Given the description of an element on the screen output the (x, y) to click on. 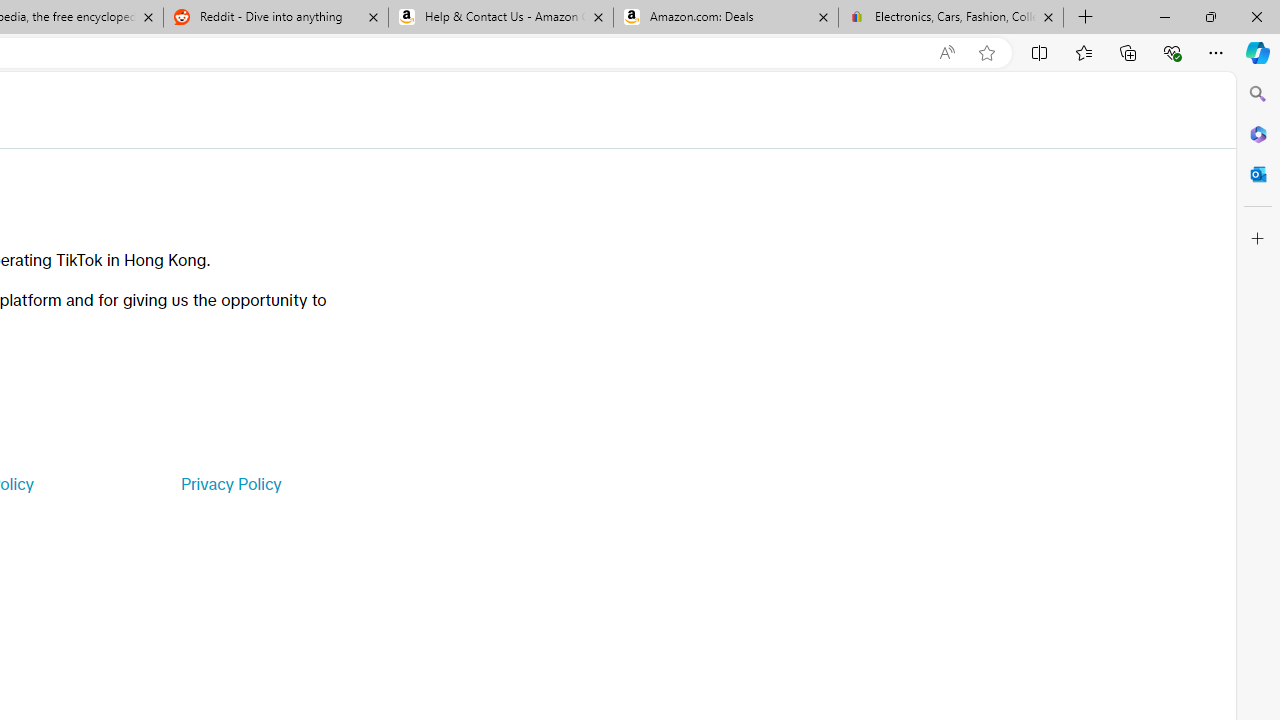
Settings and more (Alt+F) (1215, 52)
Close (1256, 16)
Privacy Policy (230, 484)
Close Outlook pane (1258, 174)
Favorites (1083, 52)
Reddit - Dive into anything (275, 17)
Restore (1210, 16)
